Given the description of an element on the screen output the (x, y) to click on. 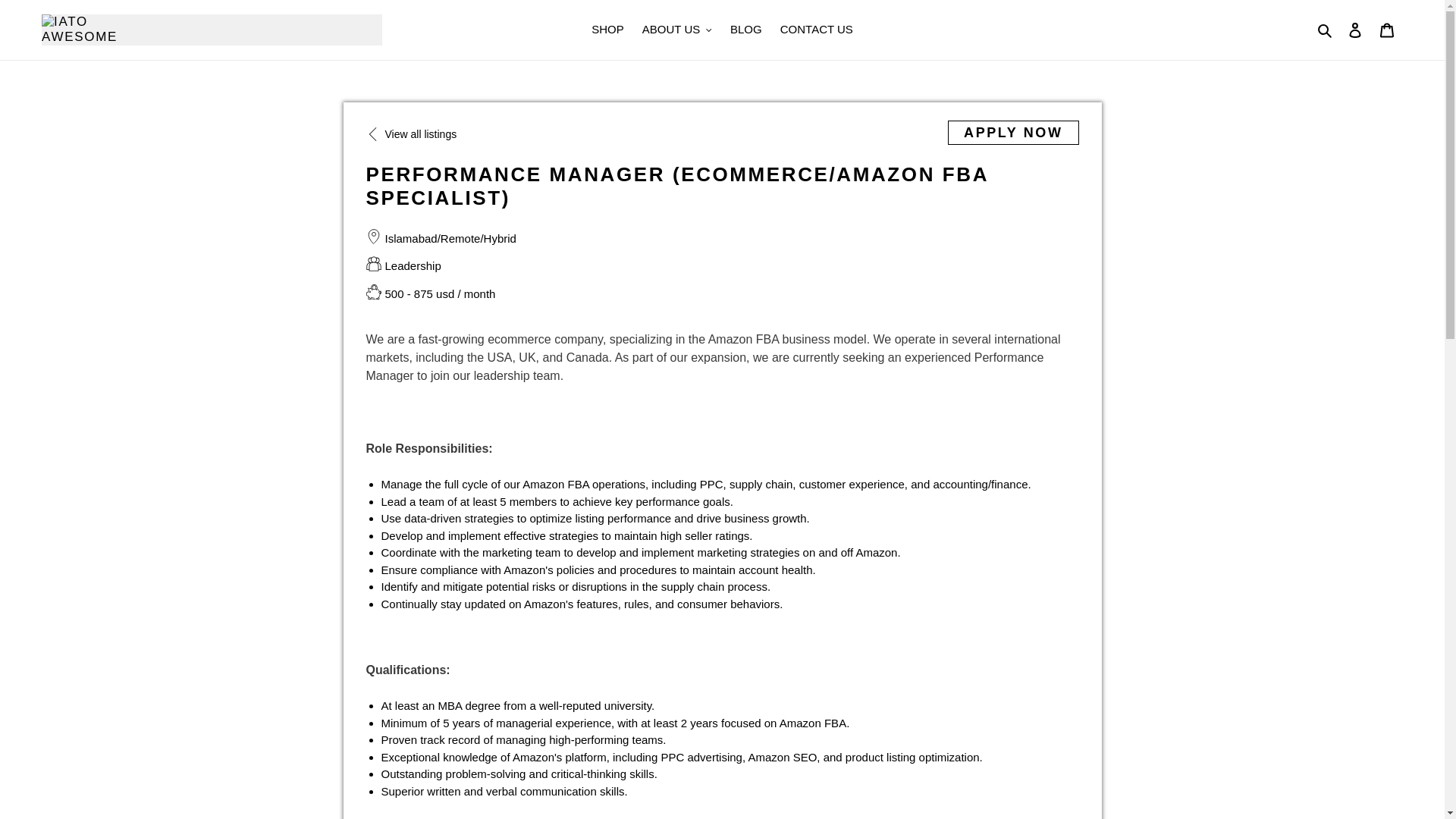
SHOP (607, 29)
ABOUT US (676, 29)
Career location (440, 239)
CONTACT US (816, 29)
BLOG (746, 29)
Cart (1387, 29)
Log in (1355, 29)
Search (1326, 29)
Compensation (430, 294)
